Given the description of an element on the screen output the (x, y) to click on. 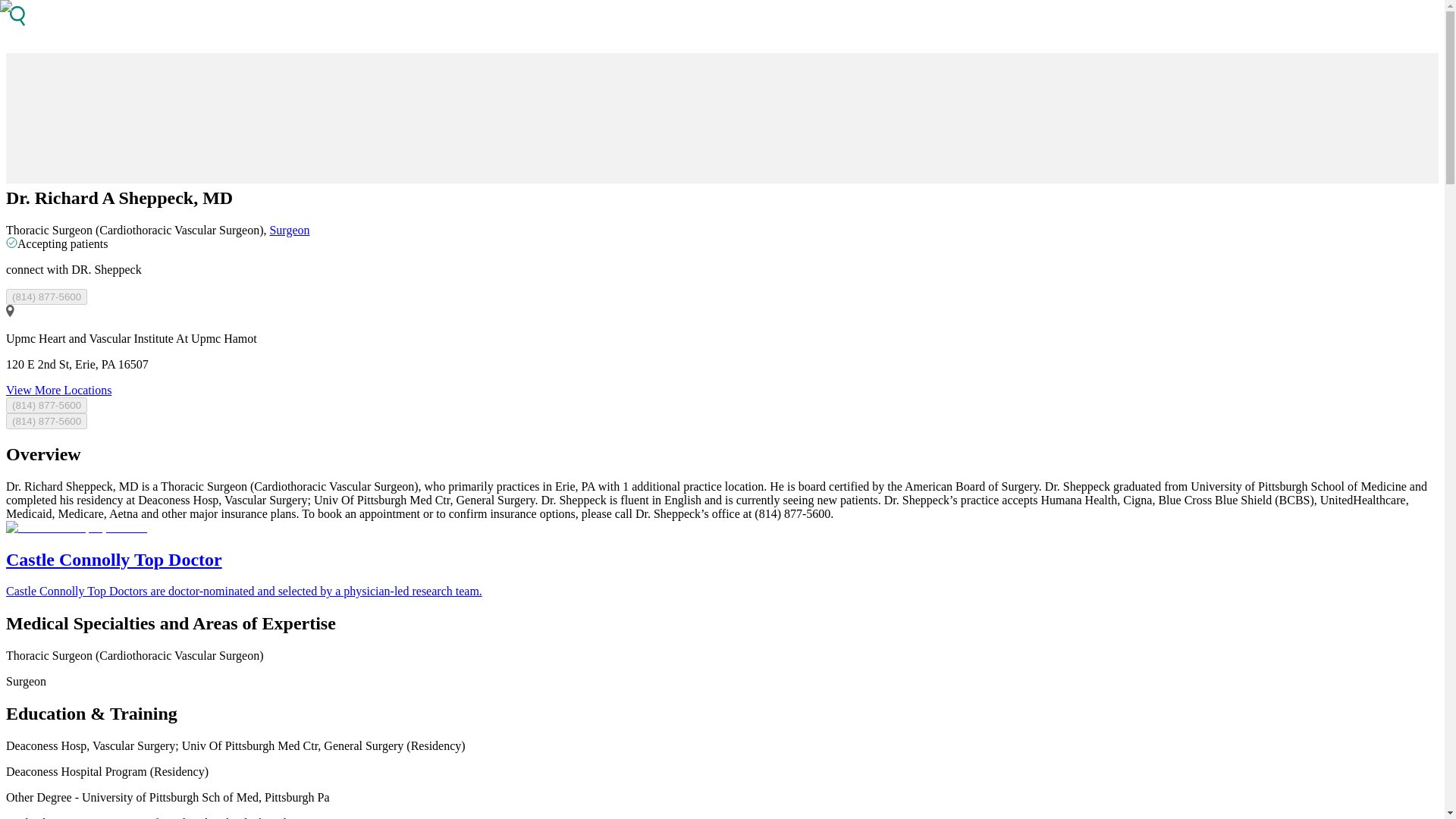
View More Locations (58, 390)
Surgeon (288, 229)
